Given the description of an element on the screen output the (x, y) to click on. 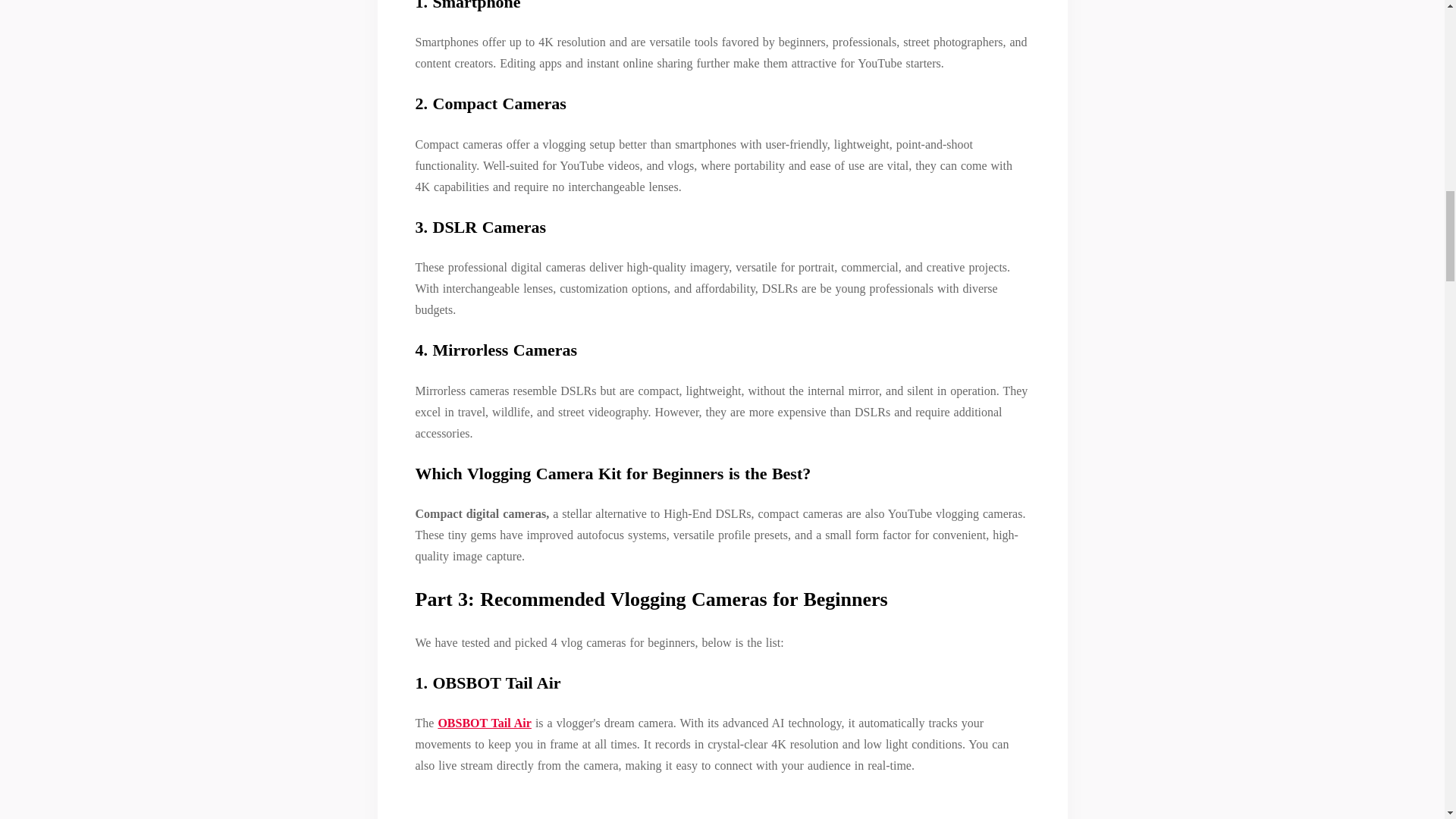
YouTube video player (718, 805)
OBSBOT Tail Air (484, 722)
